Given the description of an element on the screen output the (x, y) to click on. 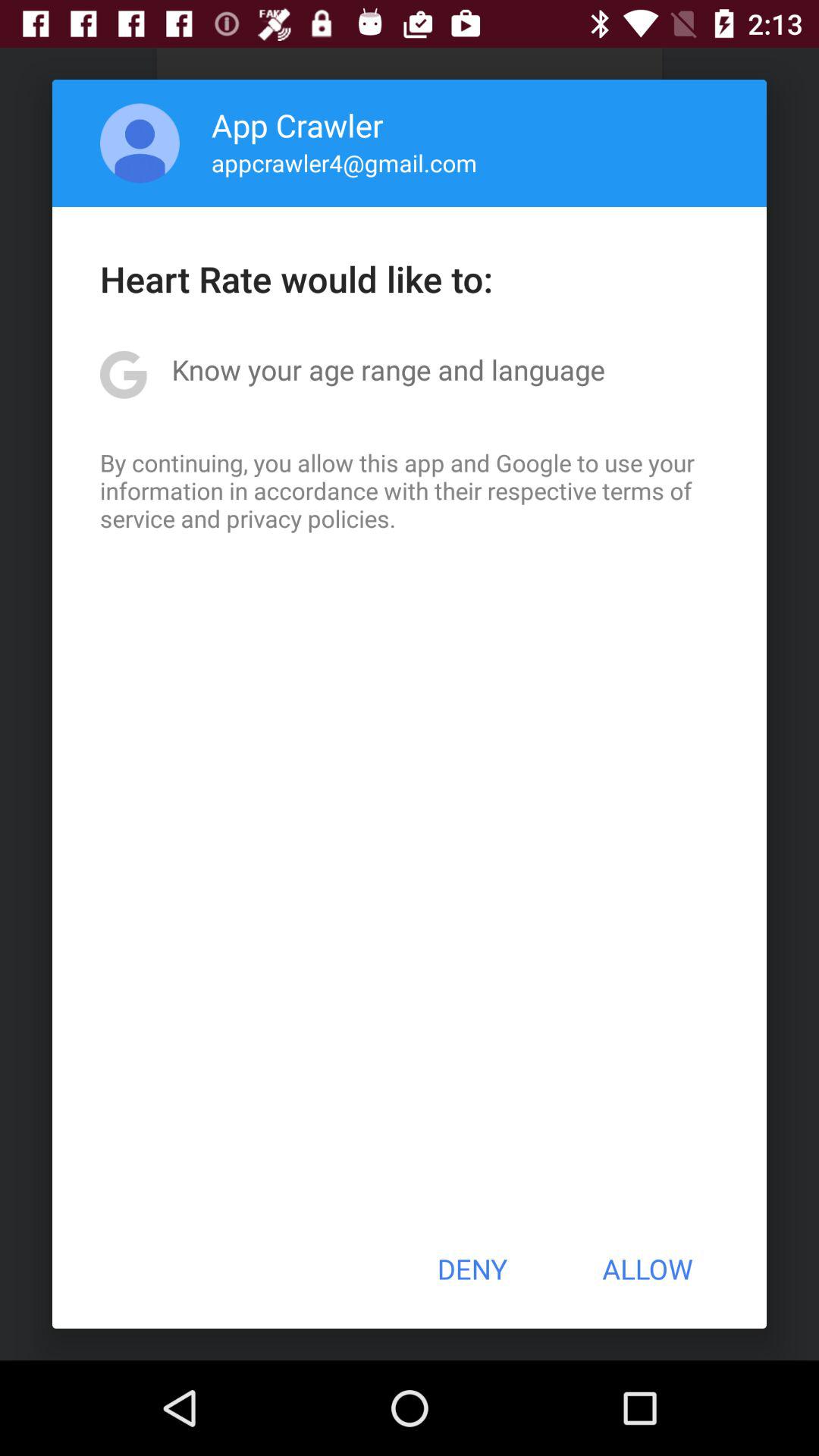
click item at the bottom (471, 1268)
